Given the description of an element on the screen output the (x, y) to click on. 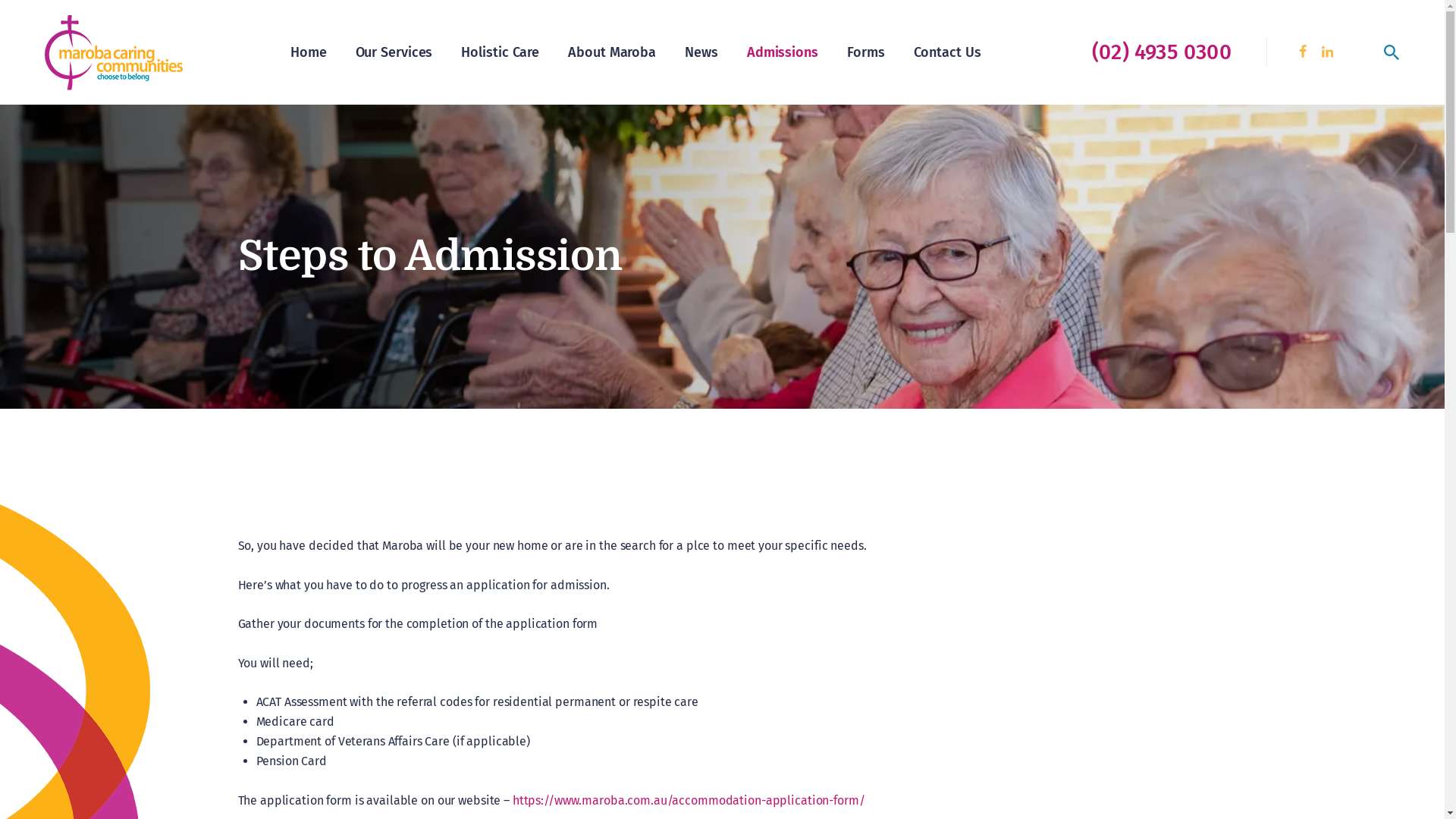
Holistic Care Element type: text (499, 51)
https://www.maroba.com.au/accommodation-application-form/ Element type: text (688, 800)
News Element type: text (701, 51)
(02) 4935 0300 Element type: text (1155, 51)
Forms Element type: text (865, 51)
Contact Us Element type: text (947, 51)
Admissions Element type: text (782, 51)
Our Services Element type: text (394, 51)
About Maroba Element type: text (611, 51)
Home Element type: text (308, 51)
